Given the description of an element on the screen output the (x, y) to click on. 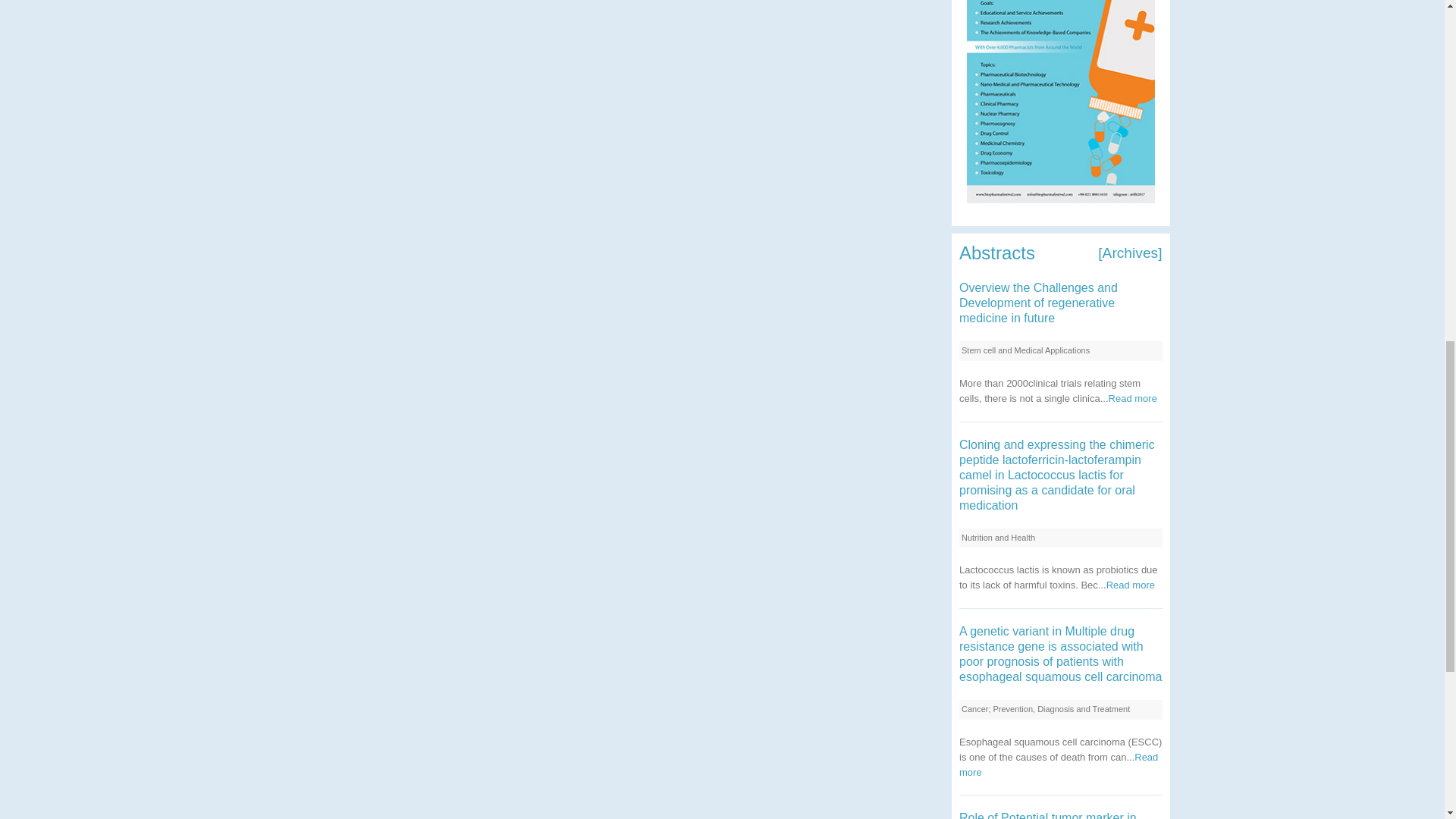
Read more (1058, 764)
Read more (1130, 584)
Read more (1132, 398)
